Given the description of an element on the screen output the (x, y) to click on. 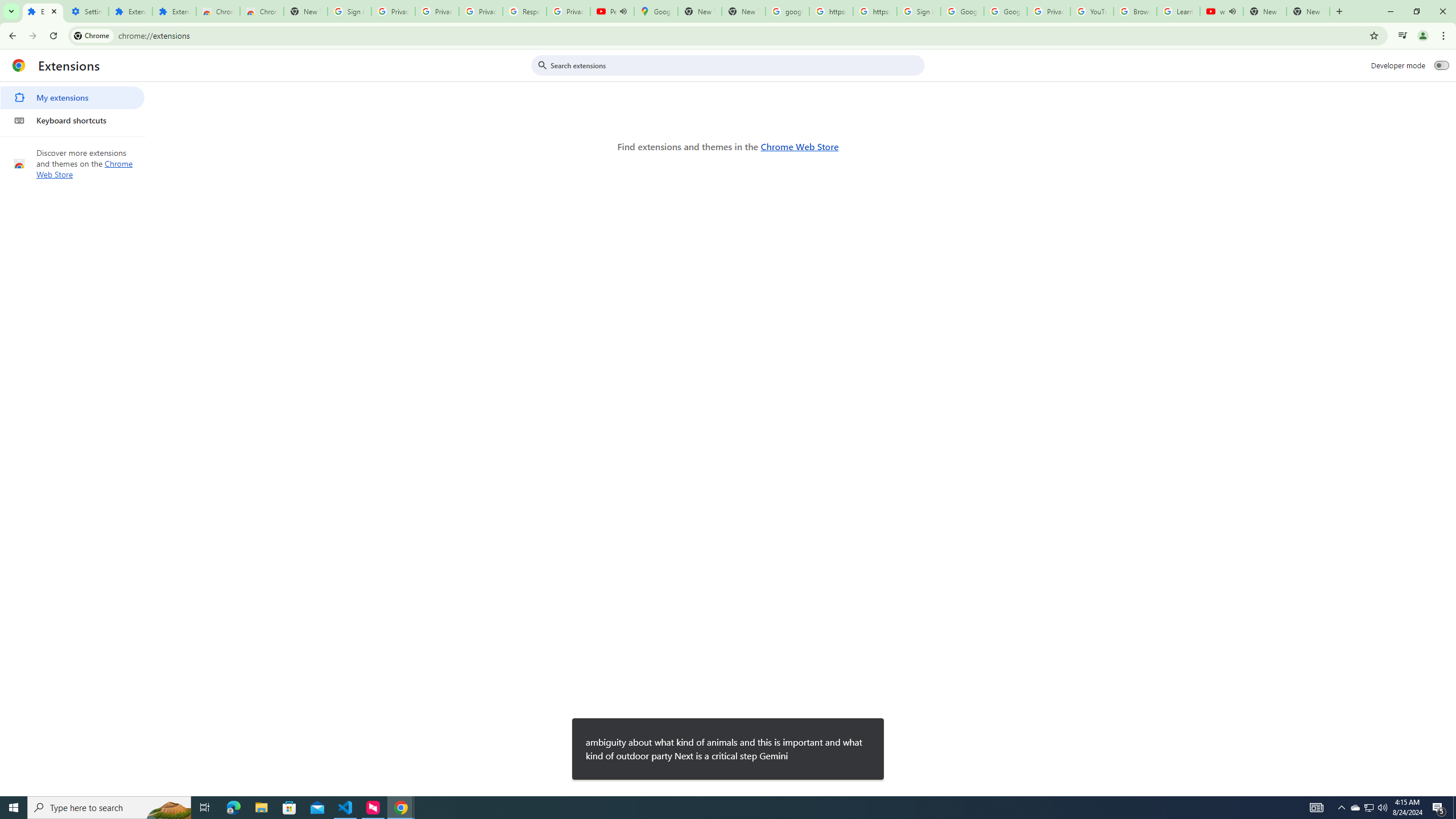
AutomationID: sectionMenu (72, 106)
YouTube (1091, 11)
